Given the description of an element on the screen output the (x, y) to click on. 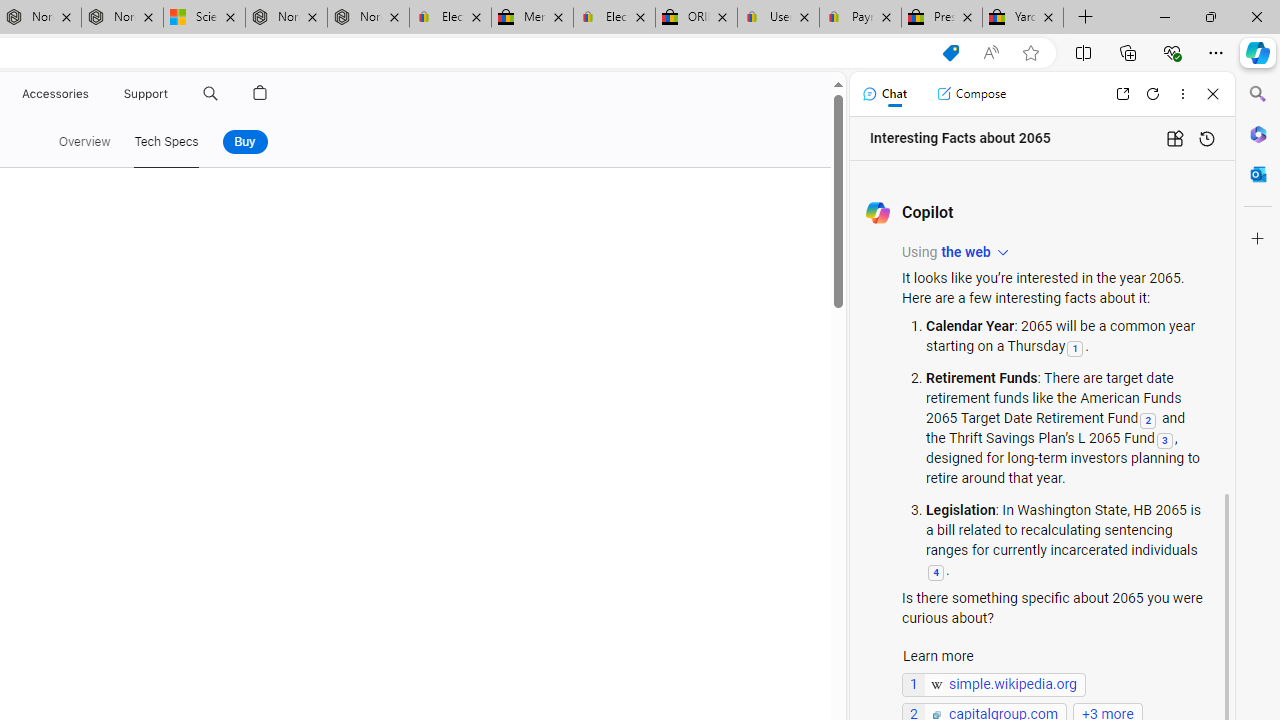
AutomationID: globalnav-bag (260, 93)
Support (146, 93)
Shopping Bag (260, 93)
Support menu (172, 93)
Compose (971, 93)
Class: globalnav-submenu-trigger-item (172, 93)
Nordace - FAQ (368, 17)
